Given the description of an element on the screen output the (x, y) to click on. 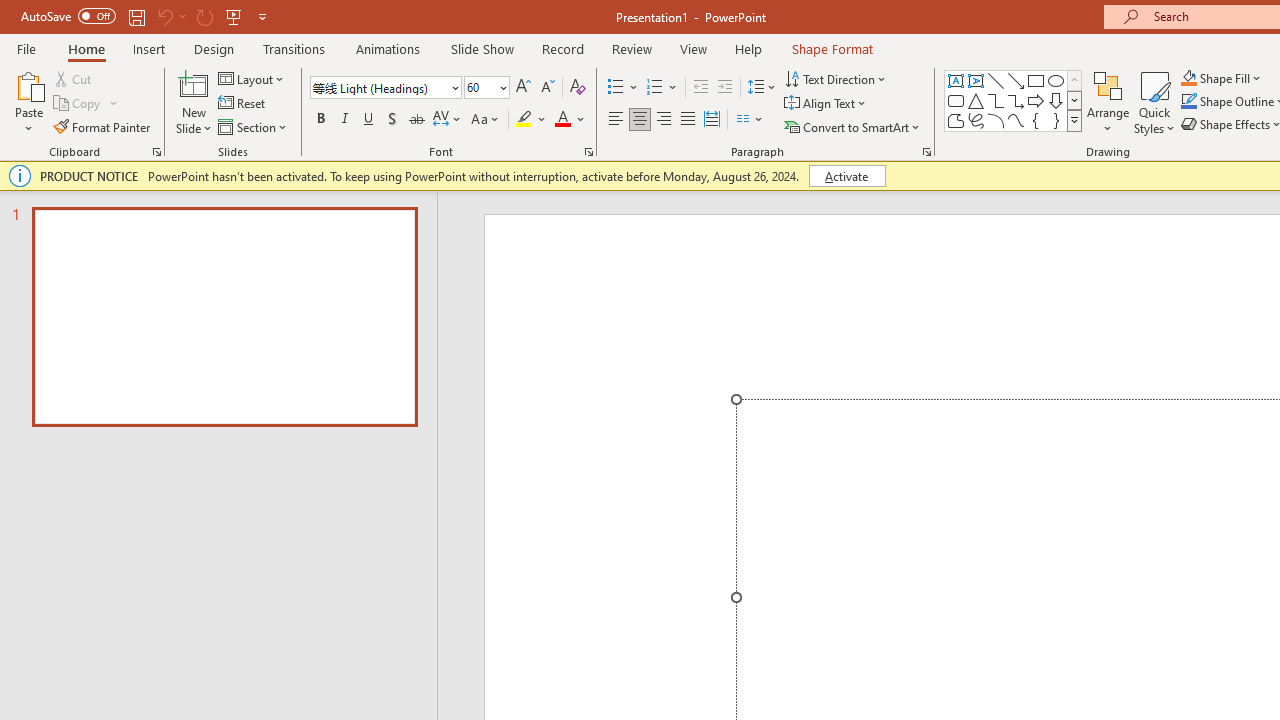
Transitions (294, 48)
Section (254, 126)
Underline (369, 119)
Font Size (486, 87)
Help (748, 48)
Reset (243, 103)
Numbering (654, 87)
Class: NetUIImage (1075, 120)
Arc (995, 120)
Vertical Text Box (975, 80)
Arrow: Down (1055, 100)
Rectangle: Rounded Corners (955, 100)
Layout (252, 78)
Numbering (661, 87)
